Given the description of an element on the screen output the (x, y) to click on. 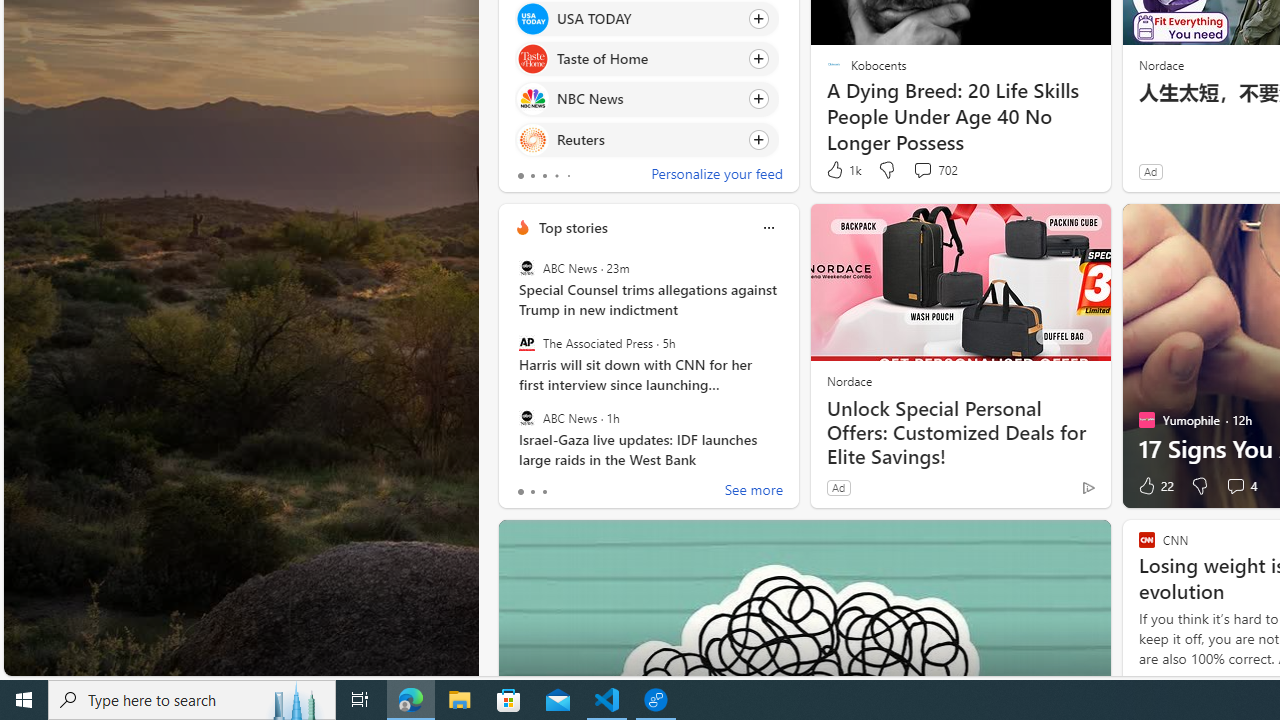
tab-1 (532, 491)
The Associated Press (526, 343)
Personalize your feed (716, 175)
22 Like (1154, 485)
Click to follow source Taste of Home (646, 59)
Click to follow source NBC News (646, 99)
View comments 702 Comment (922, 169)
tab-4 (567, 175)
Class: icon-img (768, 228)
